Given the description of an element on the screen output the (x, y) to click on. 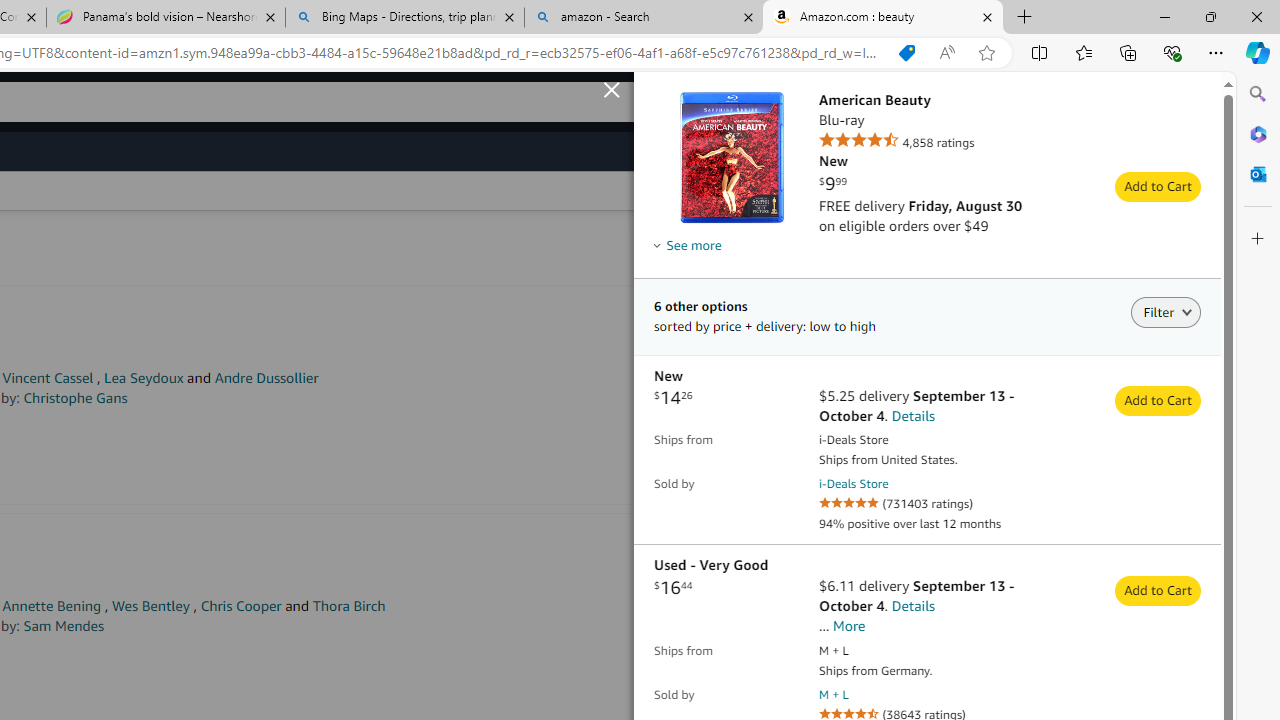
Wes Bentley (150, 606)
Close (1256, 16)
Opens a new page (833, 694)
Outlook (1258, 174)
1 item in cart (1048, 101)
Lea Seydoux (143, 378)
Go (661, 101)
Annette Bening (52, 606)
Customize (1258, 239)
Christophe Gans (75, 398)
Delete (1209, 431)
Restore (1210, 16)
Details (1171, 208)
Returns & Orders (962, 101)
Search (1258, 94)
